Given the description of an element on the screen output the (x, y) to click on. 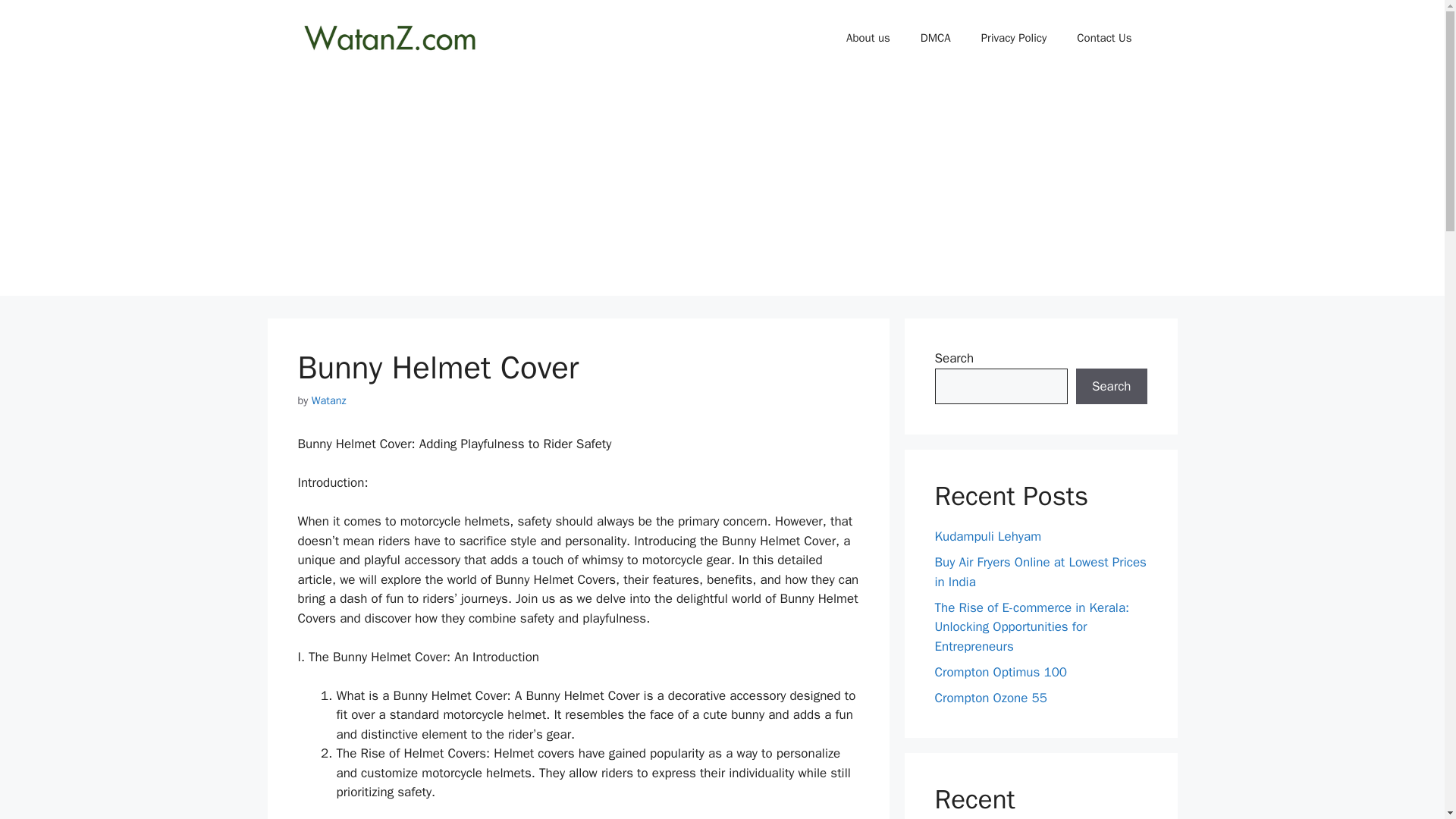
View all posts by Watanz (328, 400)
Crompton Optimus 100 (1000, 672)
DMCA (935, 37)
Watanz (328, 400)
Kudampuli Lehyam (987, 536)
Buy Air Fryers Online at Lowest Prices in India (1039, 571)
Privacy Policy (1014, 37)
About us (868, 37)
Crompton Ozone 55 (990, 697)
Contact Us (1104, 37)
Search (1111, 386)
